Given the description of an element on the screen output the (x, y) to click on. 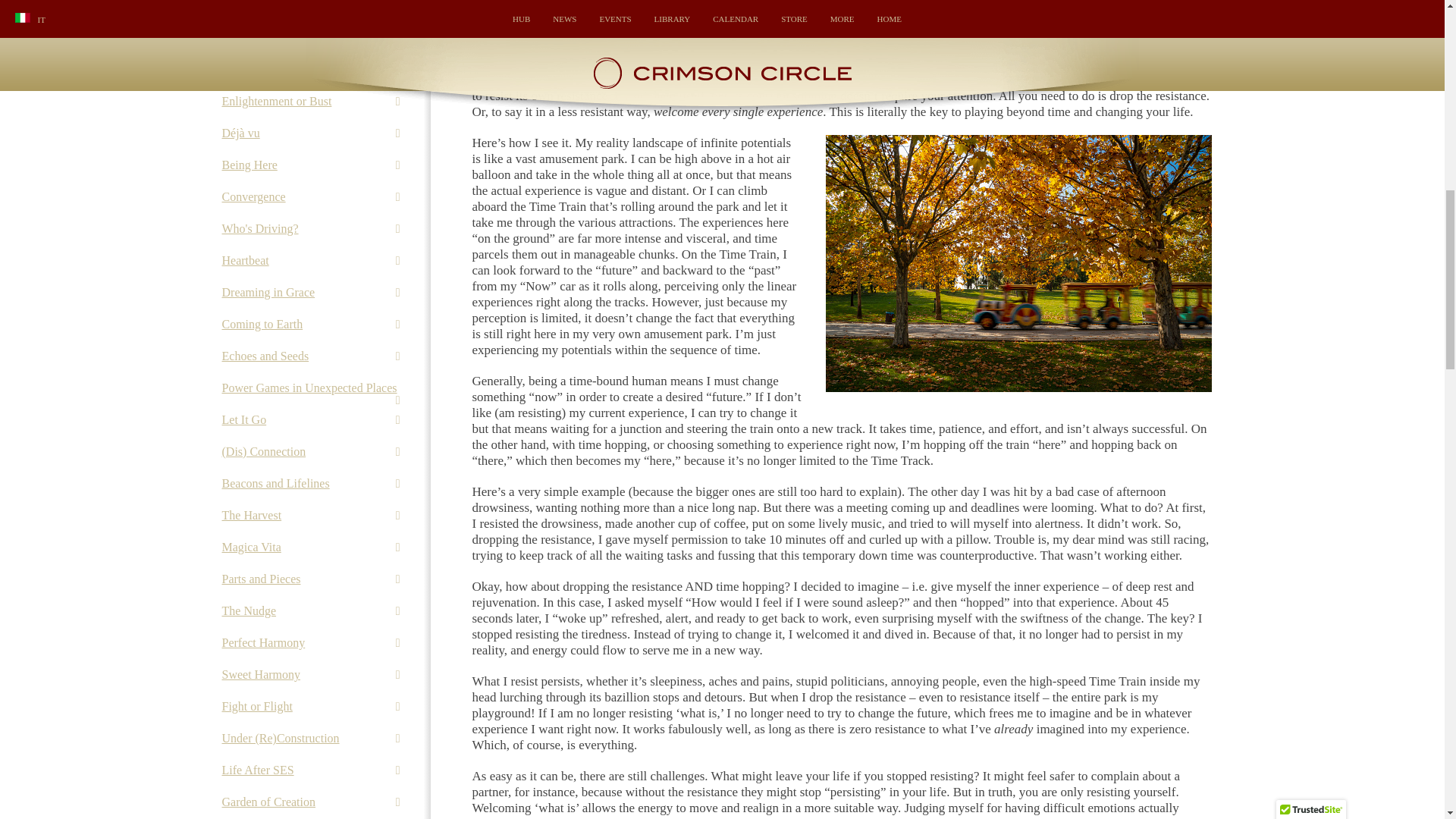
TrustedSite Certified (1310, 4)
Opens a widget where you can find more information (1387, 1)
